Given the description of an element on the screen output the (x, y) to click on. 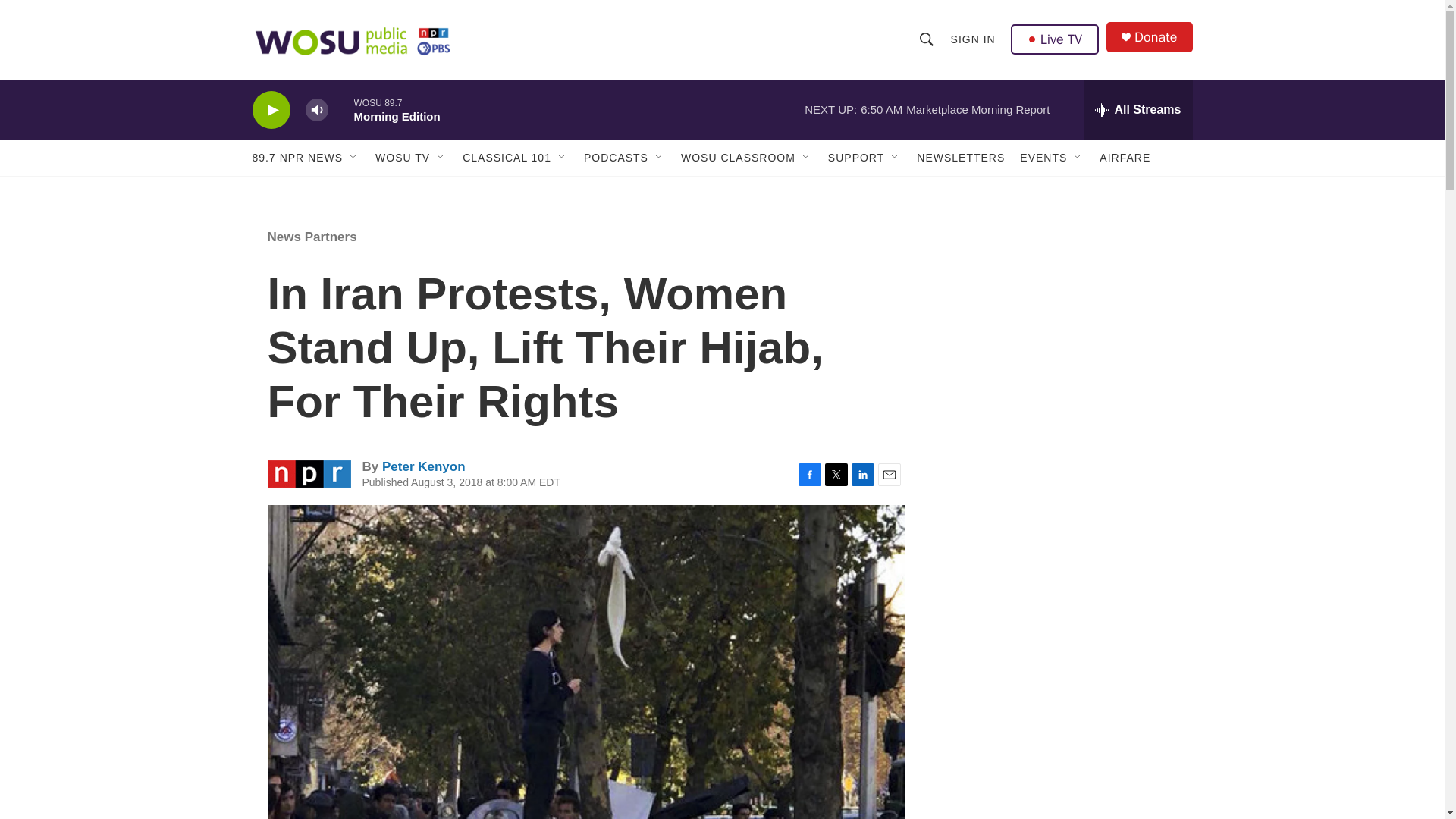
3rd party ad content (1062, 536)
3rd party ad content (1062, 316)
3rd party ad content (1062, 740)
